Given the description of an element on the screen output the (x, y) to click on. 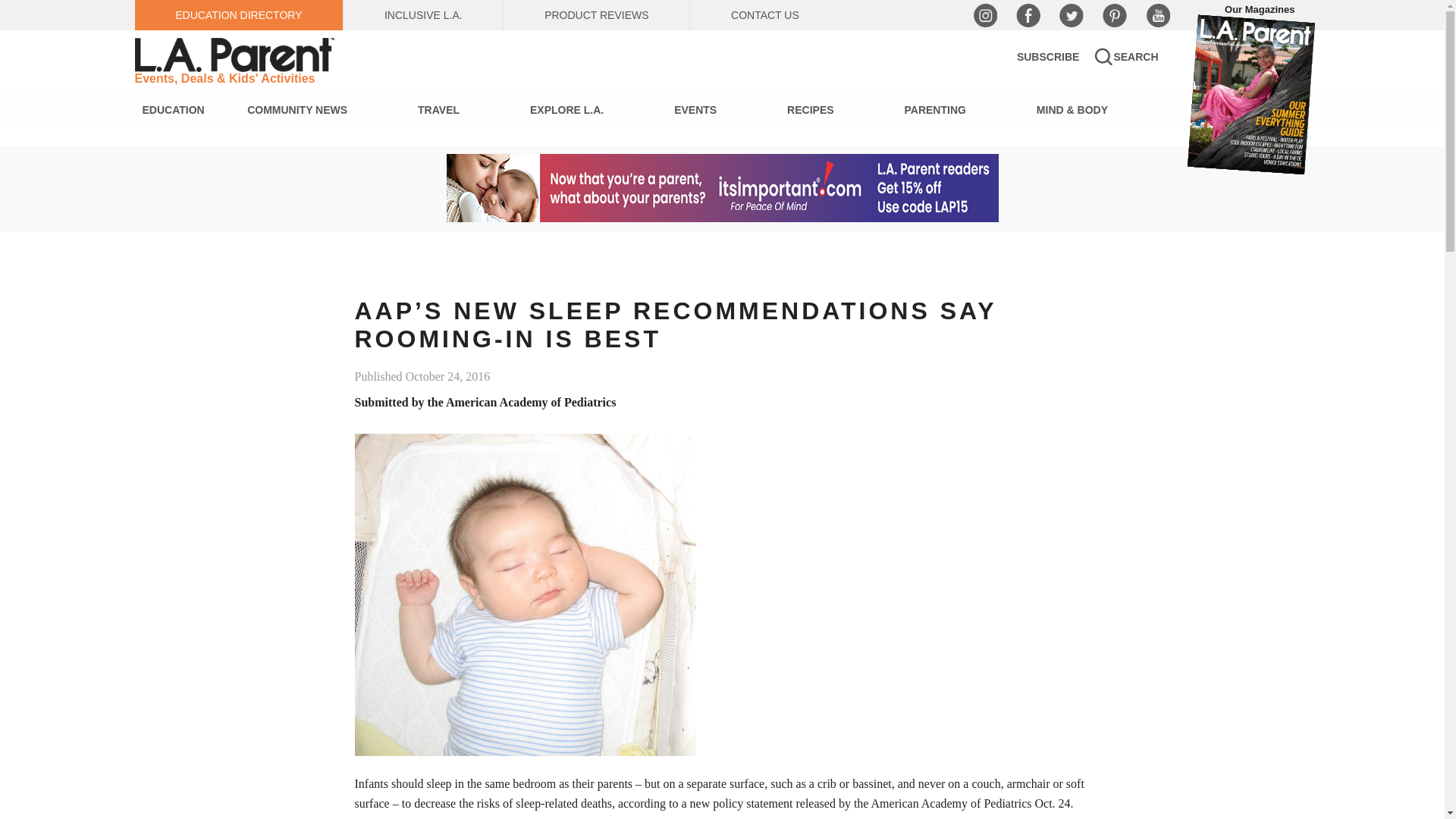
SUBSCRIBE (1047, 56)
Instagram (983, 15)
Facebook (1028, 15)
INCLUSIVE L.A. (422, 15)
PRODUCT REVIEWS (595, 15)
CONTACT US (765, 15)
L.A. Parent (237, 54)
Pinterest (1114, 15)
Twitter (1070, 15)
YouTube (1156, 15)
EDUCATION DIRECTORY (239, 15)
